Given the description of an element on the screen output the (x, y) to click on. 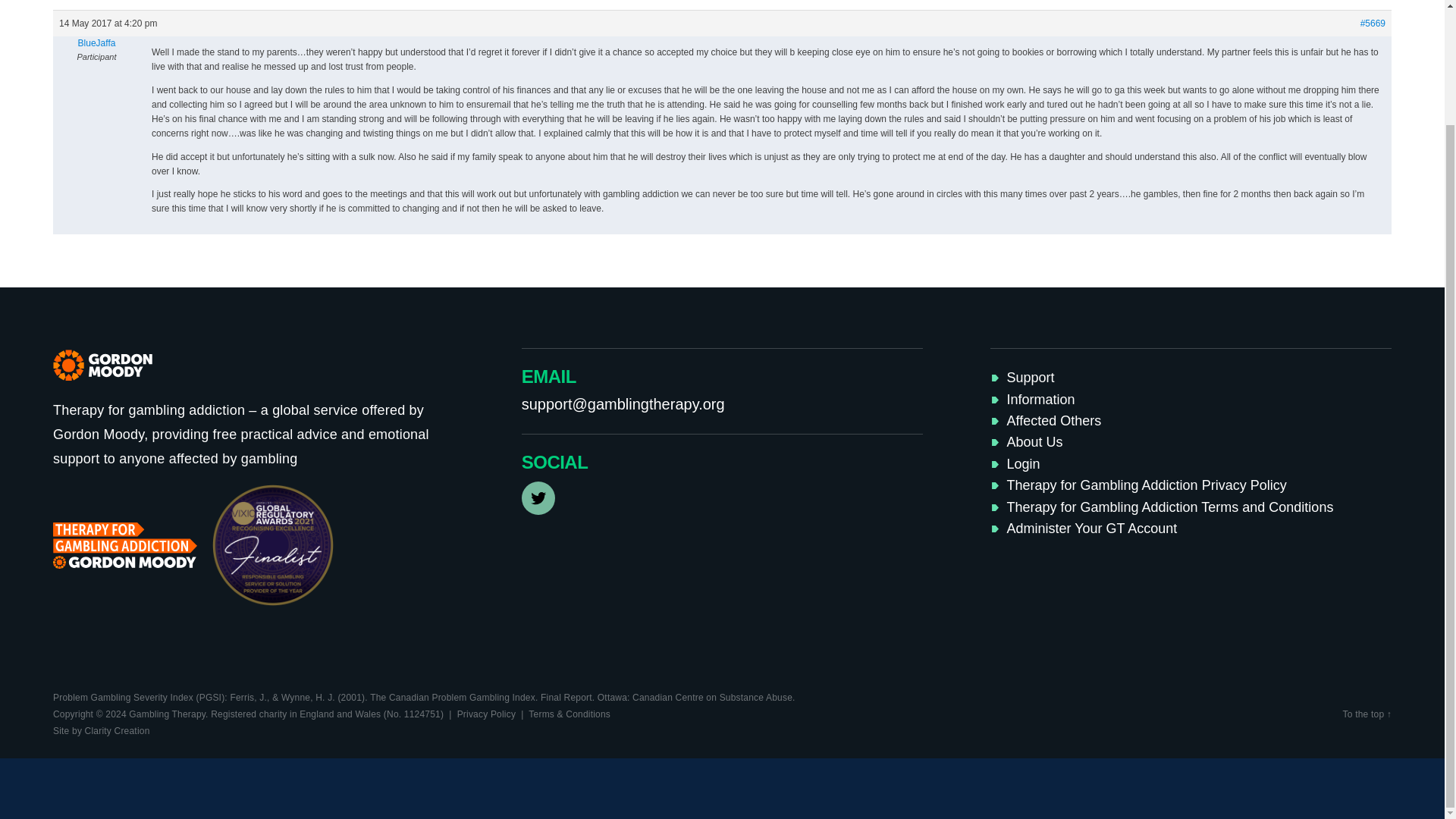
View BlueJaffa's profile (95, 42)
Visit the Clarity Creation website (100, 730)
